Given the description of an element on the screen output the (x, y) to click on. 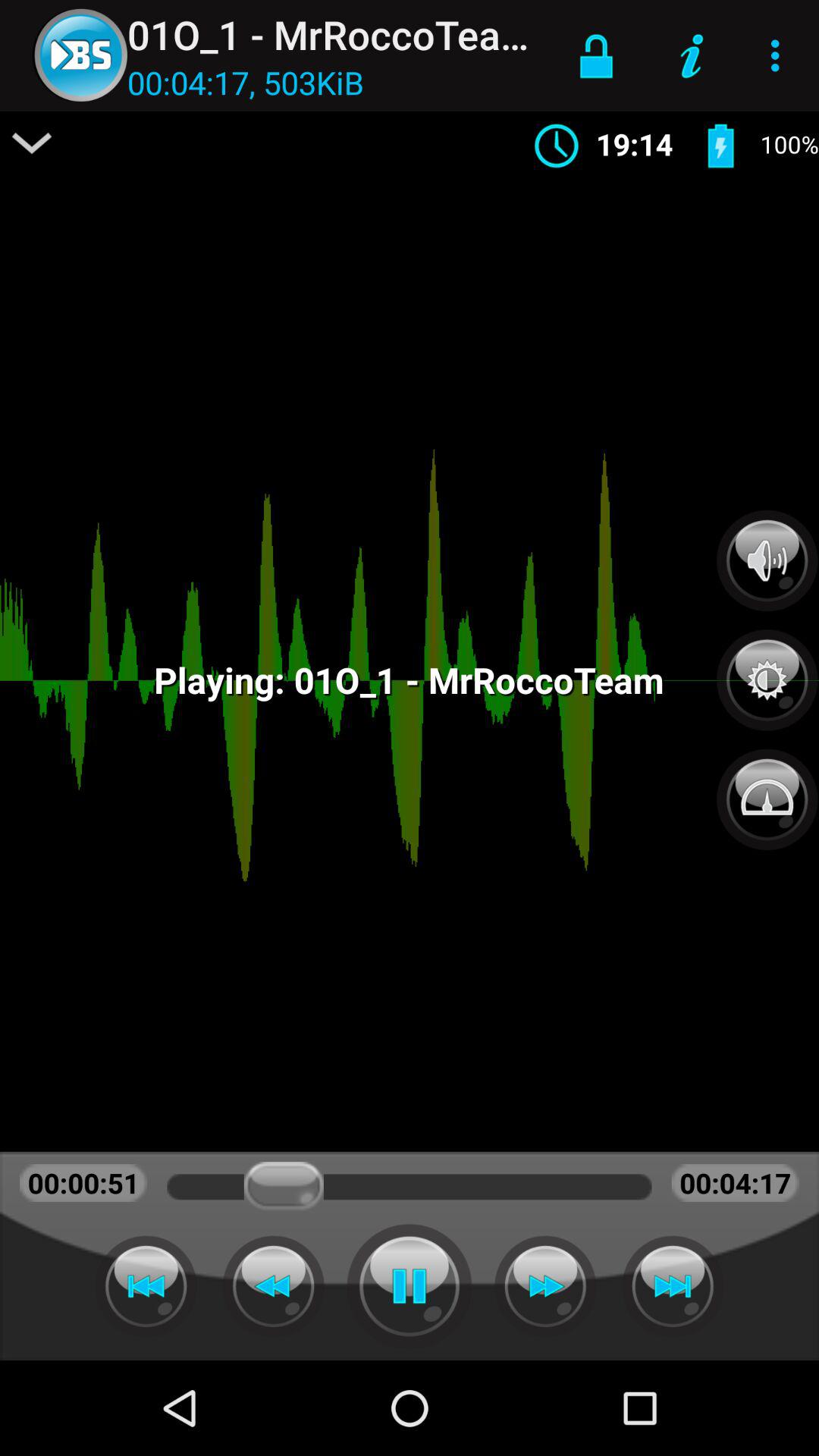
tap to adjust audio (767, 560)
